Given the description of an element on the screen output the (x, y) to click on. 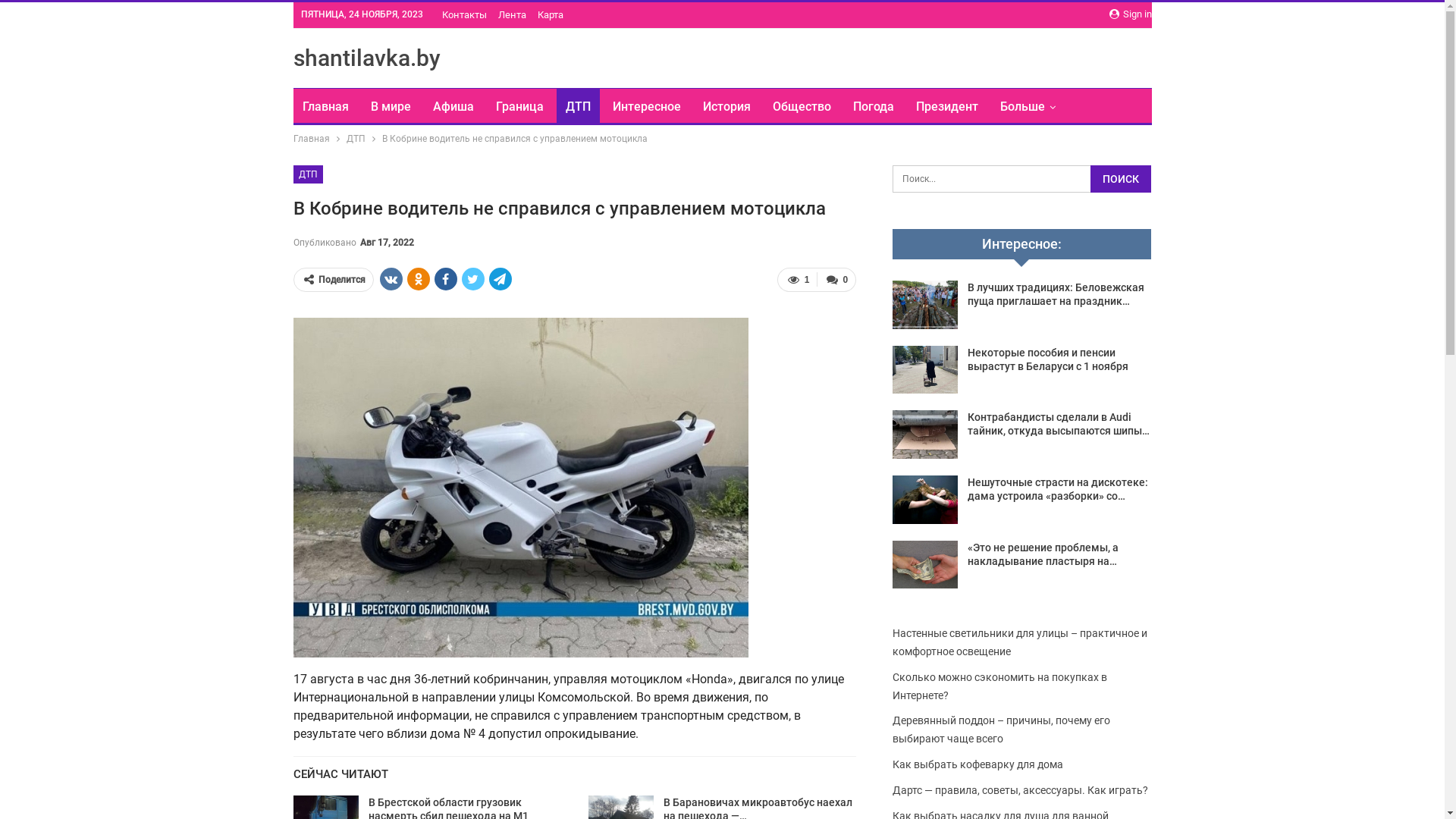
shantilavka.by Element type: text (365, 57)
0 Element type: text (836, 279)
Sign in Element type: text (1129, 14)
